Given the description of an element on the screen output the (x, y) to click on. 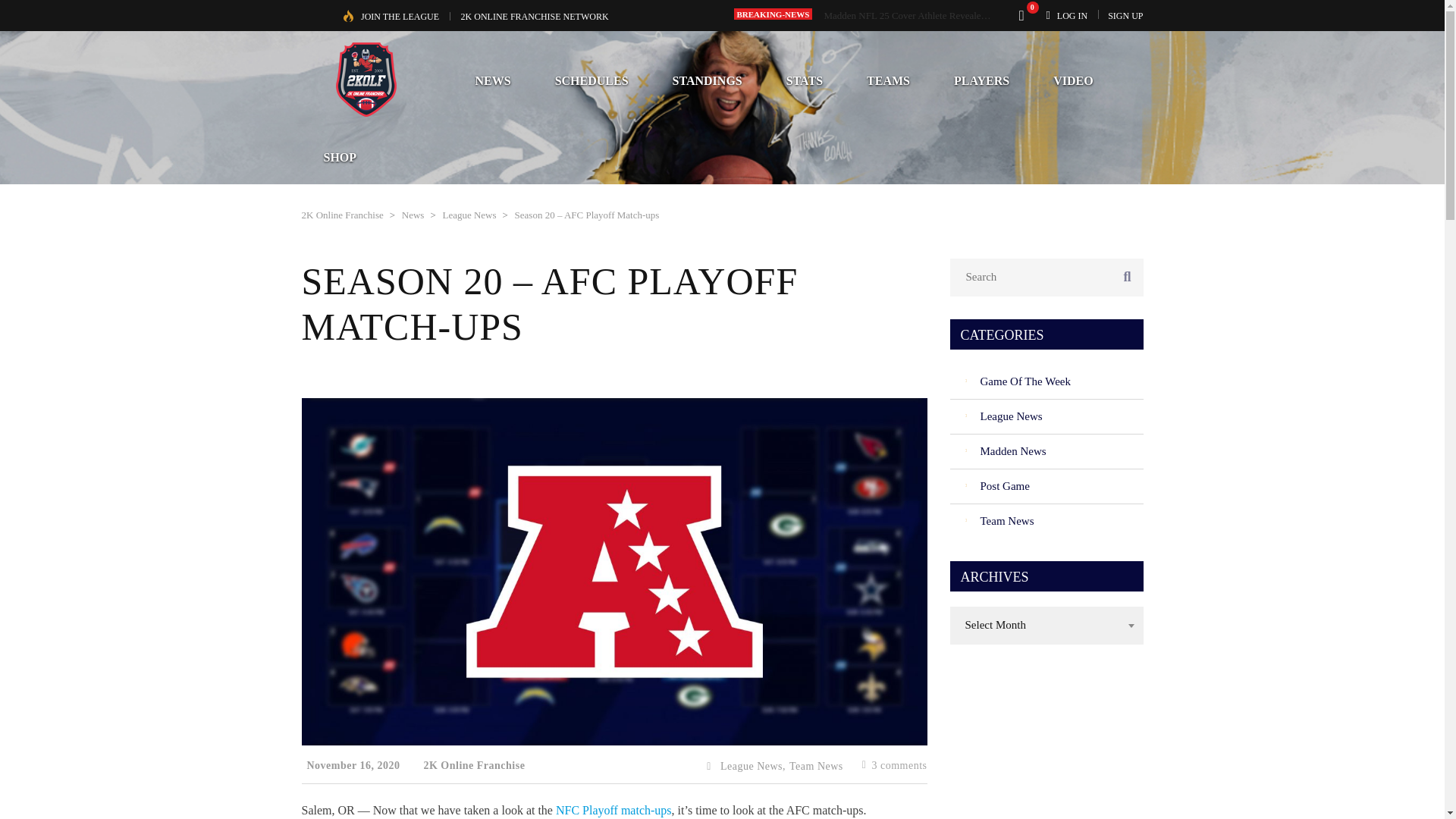
Go to 2K Online Franchise. (342, 214)
SIGN UP (1125, 15)
JOIN THE LEAGUE (400, 16)
NEWS (492, 80)
Go to the League News Category archives. (469, 214)
LOG IN (1072, 15)
TEAMS (887, 80)
STANDINGS (707, 80)
Go to News. (413, 214)
Submit (1094, 654)
SCHEDULES (591, 80)
STATS (804, 80)
Madden NFL 25 Cover Athlete Revealed as Christian McCaffrey (952, 15)
